Given the description of an element on the screen output the (x, y) to click on. 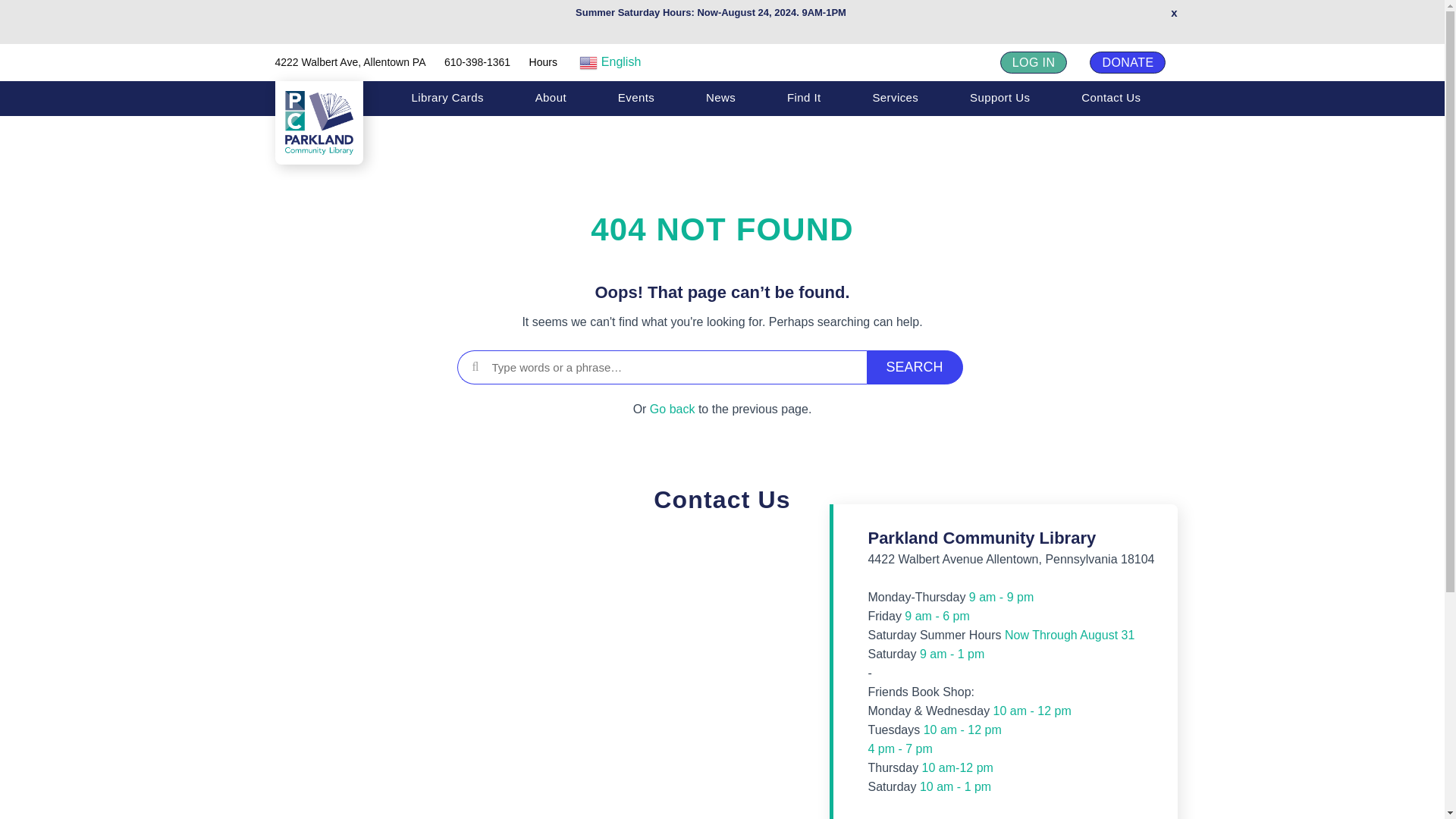
About (550, 97)
English (639, 61)
Events (635, 97)
Hours (543, 62)
SEARCH (914, 367)
SEARCH (914, 367)
Library Cards (446, 97)
DONATE (1127, 61)
LOG IN (1033, 61)
